Given the description of an element on the screen output the (x, y) to click on. 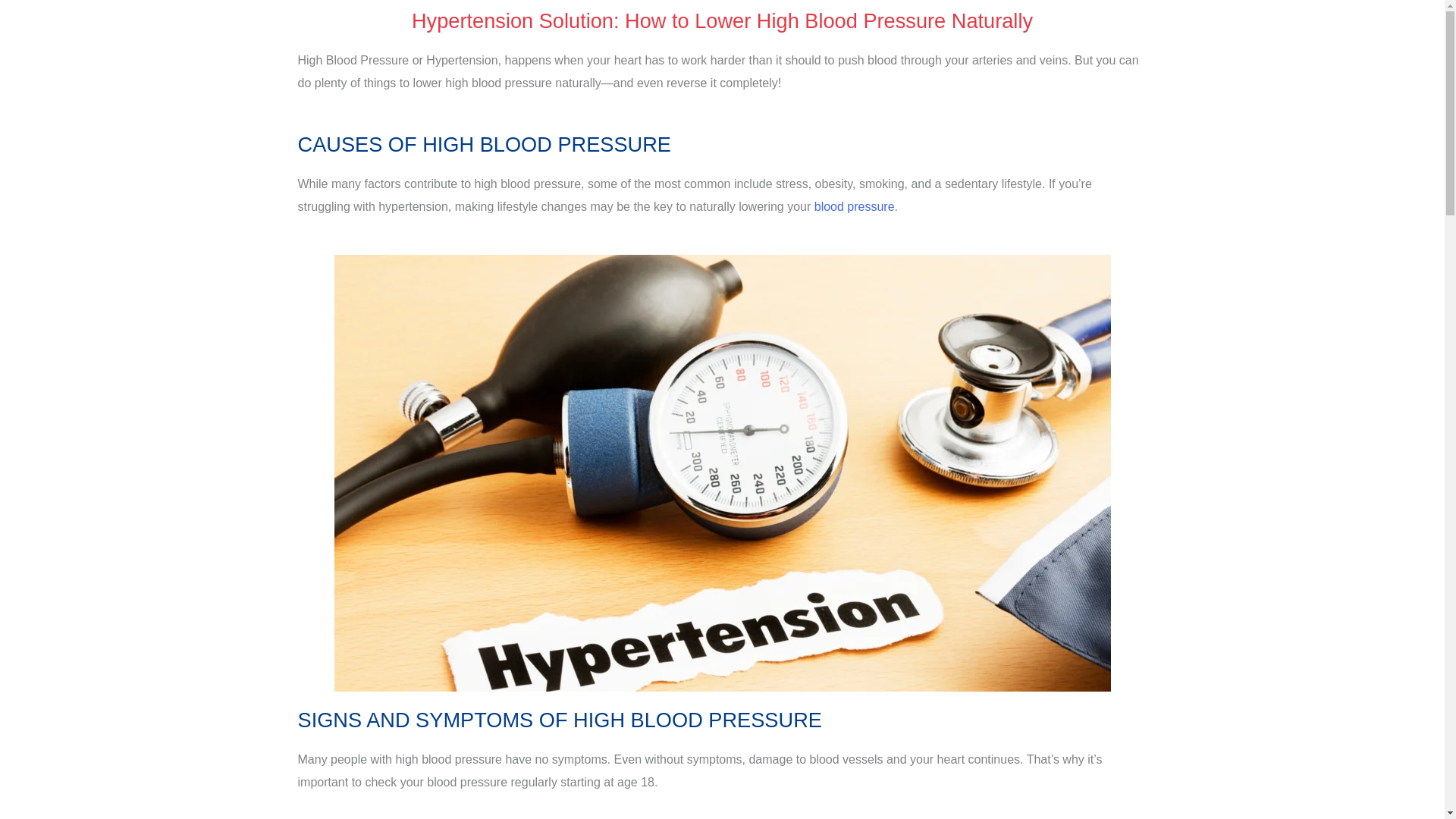
blood pressure (854, 205)
